Given the description of an element on the screen output the (x, y) to click on. 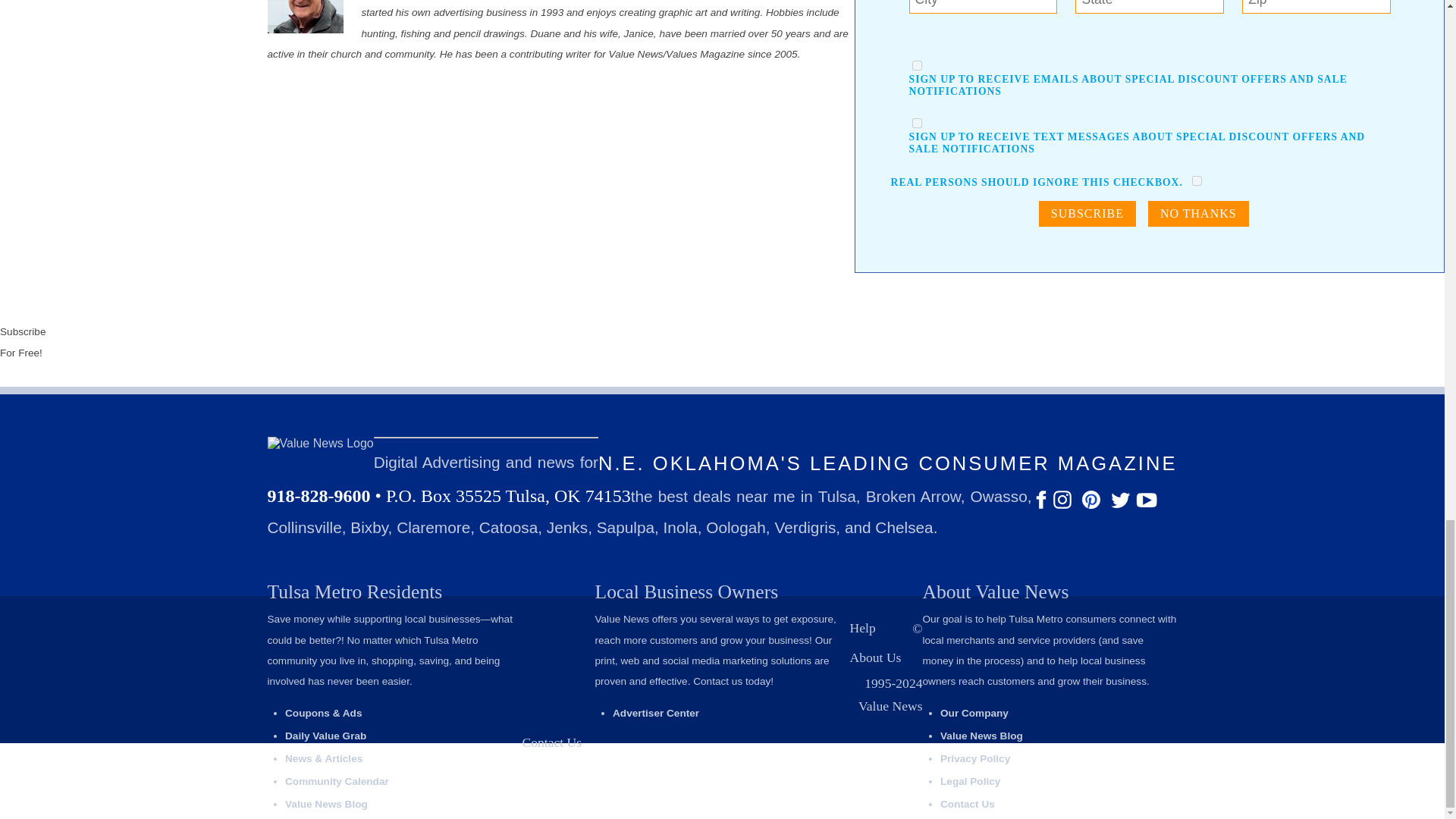
Visit the Value News Pinterest page. (1092, 505)
Subscribe (1087, 213)
Visit the Value News Facebook page. (1041, 505)
1 (1197, 180)
Visit the Value News Youtube channel (1146, 505)
1 (916, 122)
Visit the Value News Instagram page. (1063, 505)
1 (916, 65)
No Thanks (1198, 213)
Visit the Value News Twitter page. (1122, 505)
Subscribe (1087, 213)
